Given the description of an element on the screen output the (x, y) to click on. 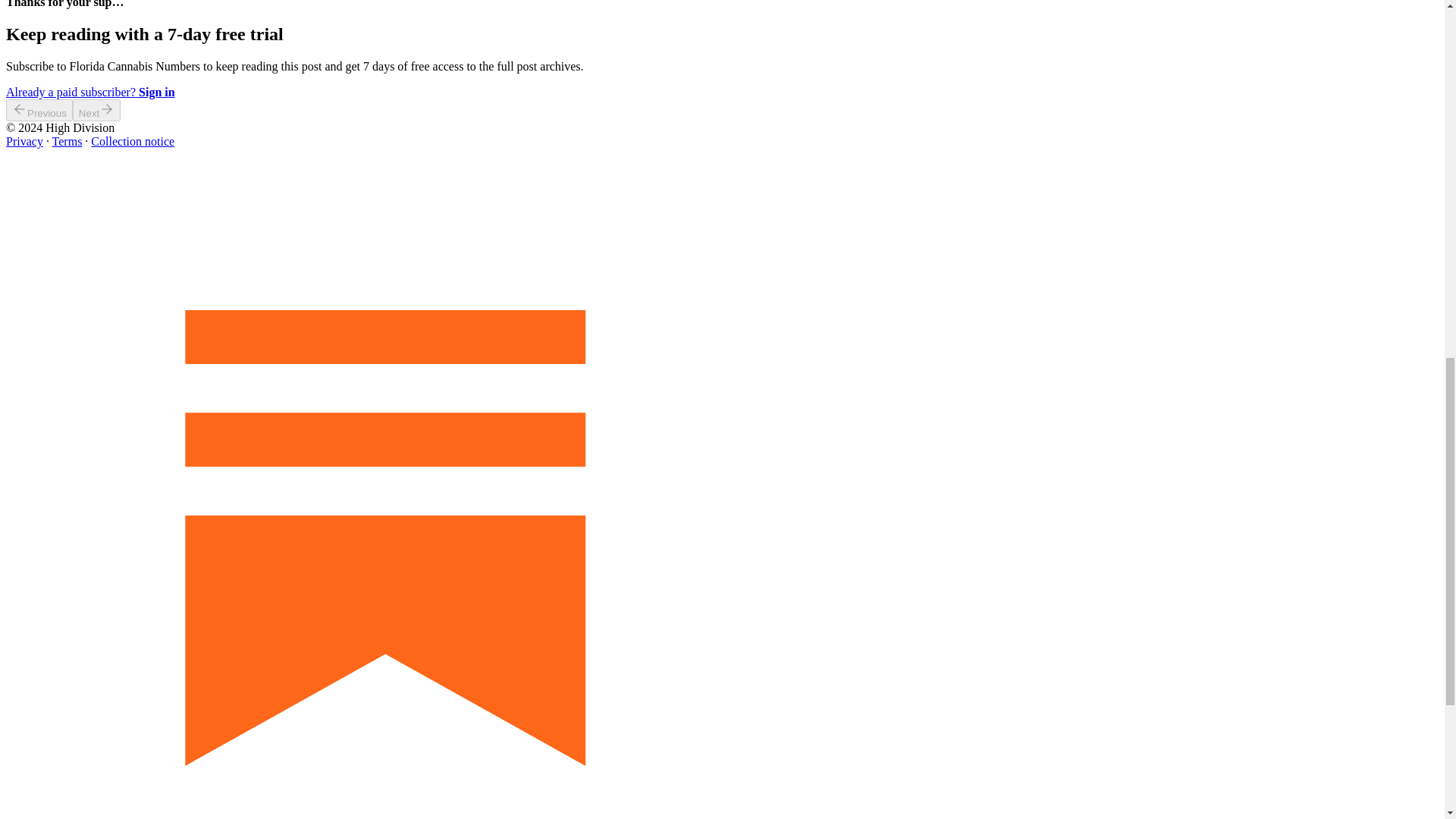
Terms (67, 141)
Collection notice (132, 141)
Previous (38, 110)
Already a paid subscriber? Sign in (89, 91)
Next (96, 110)
Privacy (24, 141)
